Given the description of an element on the screen output the (x, y) to click on. 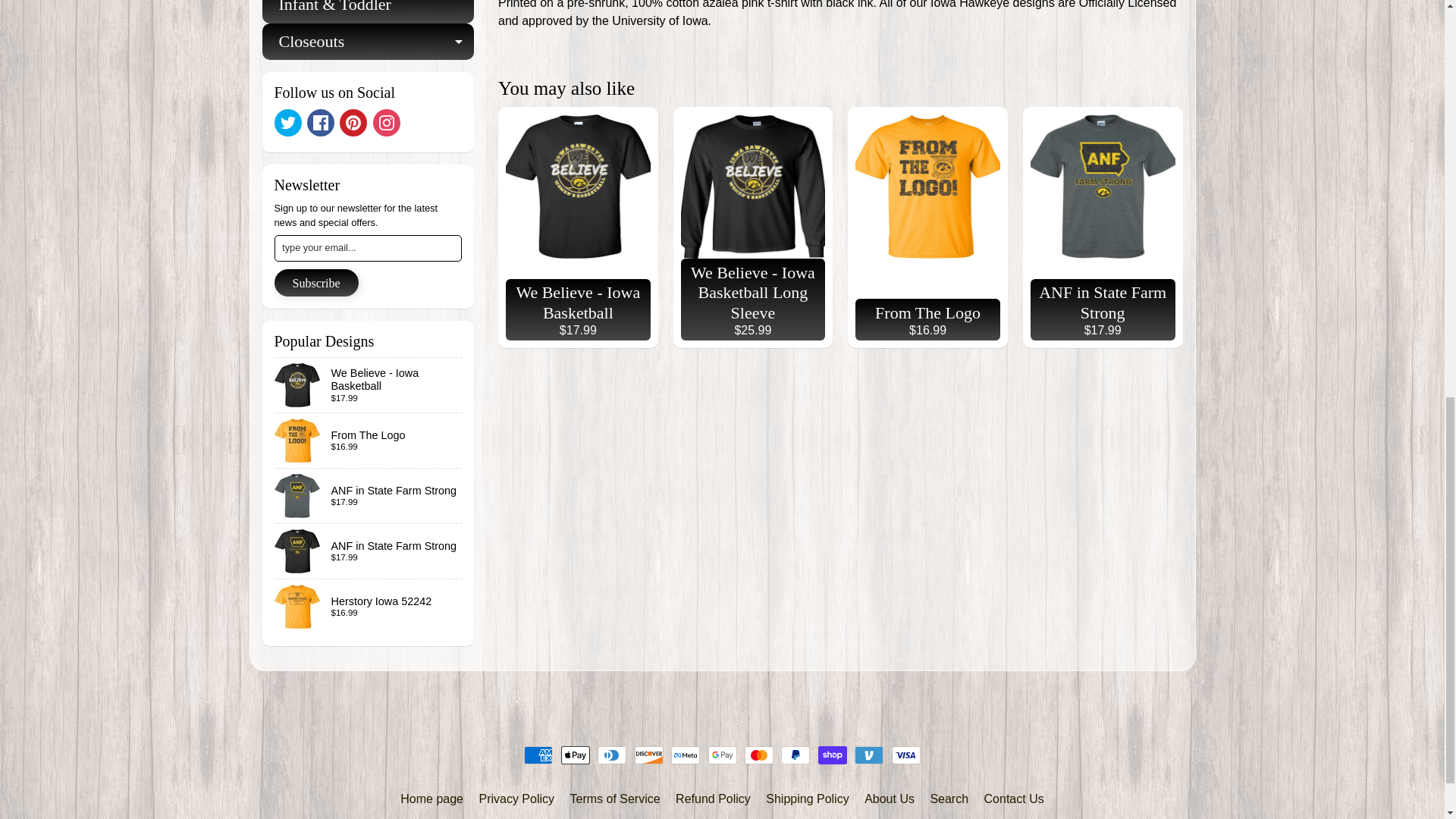
Shop Pay (832, 755)
Venmo (868, 755)
ANF in State Farm Strong (369, 495)
Apple Pay (574, 755)
Pinterest (352, 122)
Herstory Iowa 52242 (369, 606)
American Express (538, 755)
Mastercard (758, 755)
ANF in State Farm Strong (369, 551)
Twitter (288, 122)
